Given the description of an element on the screen output the (x, y) to click on. 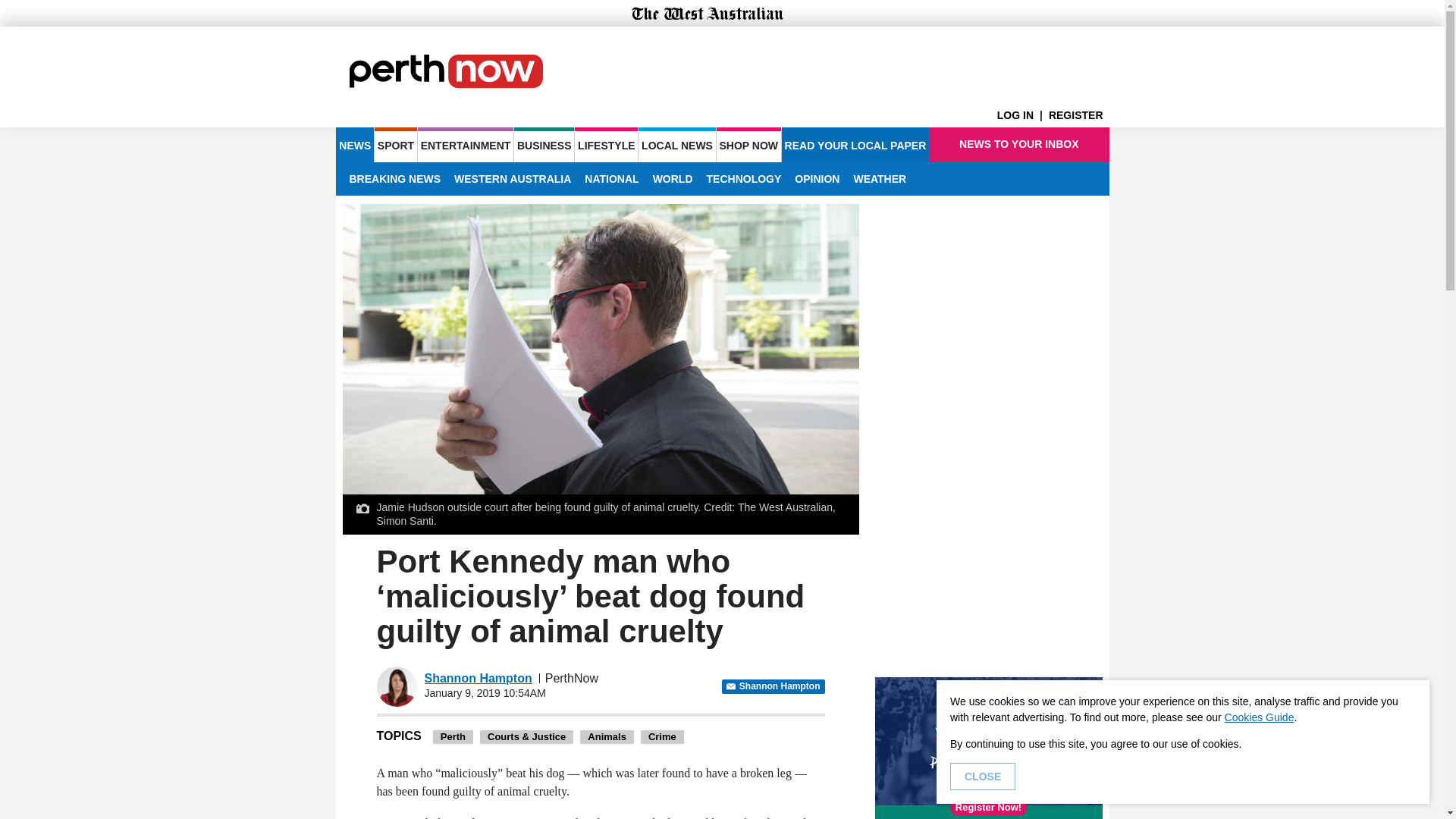
ENTERTAINMENT (465, 144)
SPORT (395, 144)
LOG IN (1022, 115)
NEWS (354, 144)
REGISTER (1078, 115)
